Given the description of an element on the screen output the (x, y) to click on. 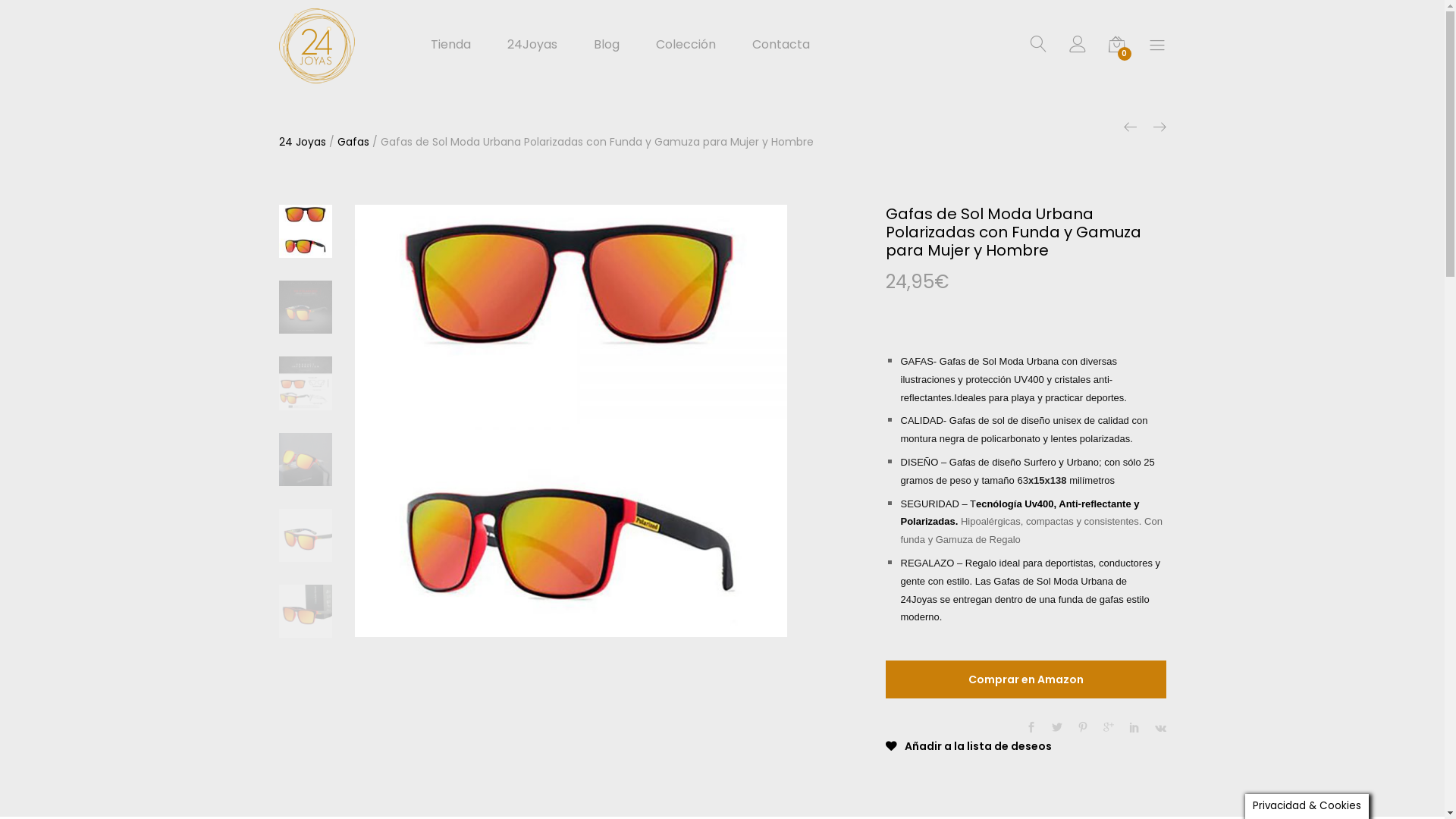
Comprar en Amazon Element type: text (1025, 679)
Gafas Element type: text (352, 141)
Tienda Element type: text (450, 44)
Gafas de Sol Urbanas Polarizadas (17) Element type: hover (305, 383)
Blog Element type: text (605, 44)
Ayuda Element type: text (1150, 777)
Gafas de Sol Urbanas Polarizadas (7) Element type: hover (305, 534)
Gafas de Sol Urbanas Polarizadas (6) Element type: hover (305, 610)
Gafas de Sol Urbanas Polarizadas (10) Element type: hover (305, 459)
24Joyas Element type: text (531, 44)
0 Element type: text (1116, 47)
Contacta Element type: text (780, 44)
Cookies Element type: text (1080, 777)
Gafas de Sol Urbanas Polarizadas (19) Element type: hover (305, 306)
24 Joyas Element type: text (302, 141)
